Given the description of an element on the screen output the (x, y) to click on. 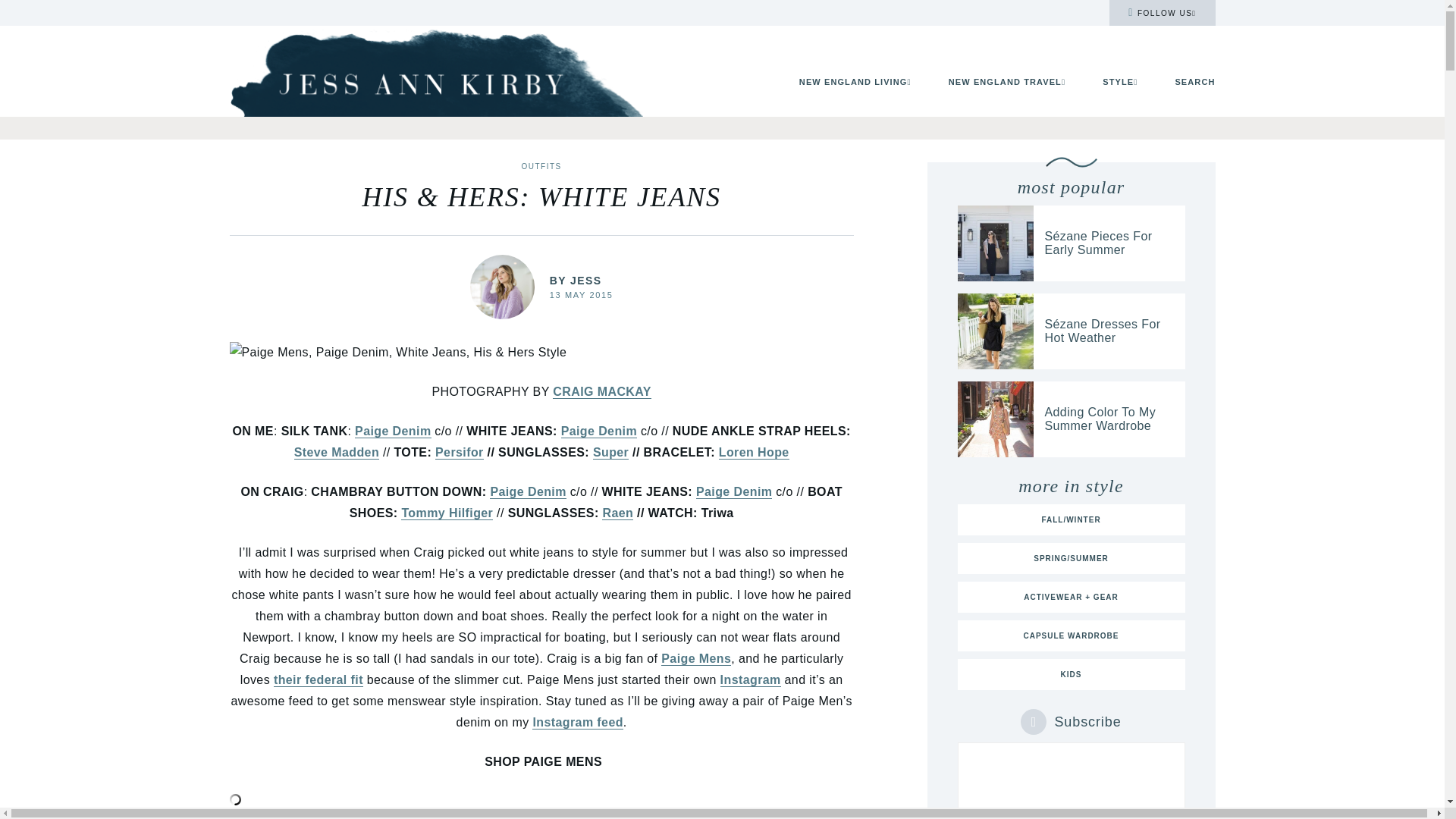
Paige Denim (598, 431)
STYLE (1119, 81)
View all posts in Outfits (541, 166)
OUTFITS (541, 166)
NEW ENGLAND TRAVEL (1007, 81)
FOLLOW US (1161, 12)
SEARCH (1194, 81)
Steve Madden (336, 452)
Paige Denim (392, 431)
Super (610, 452)
CRAIG MACKAY (601, 391)
Persifor (459, 452)
NEW ENGLAND LIVING (855, 81)
